Given the description of an element on the screen output the (x, y) to click on. 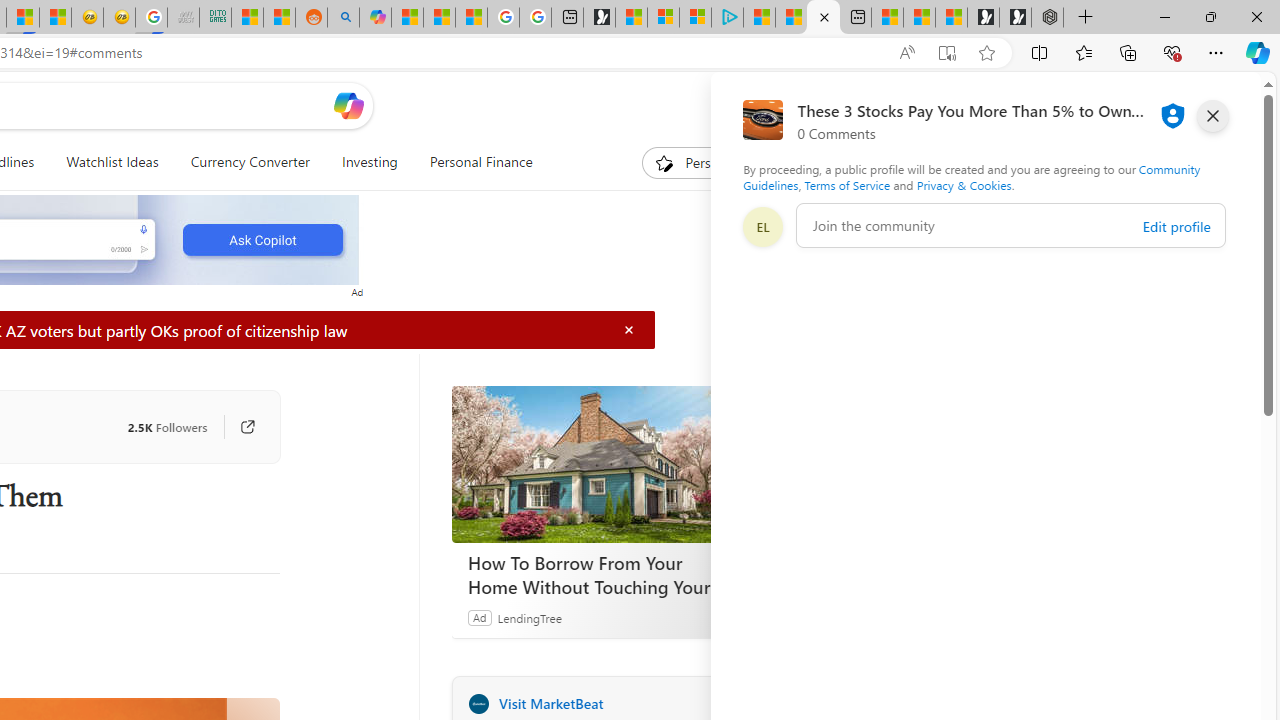
Go to publisher's site (237, 426)
Profile Picture (762, 226)
